Given the description of an element on the screen output the (x, y) to click on. 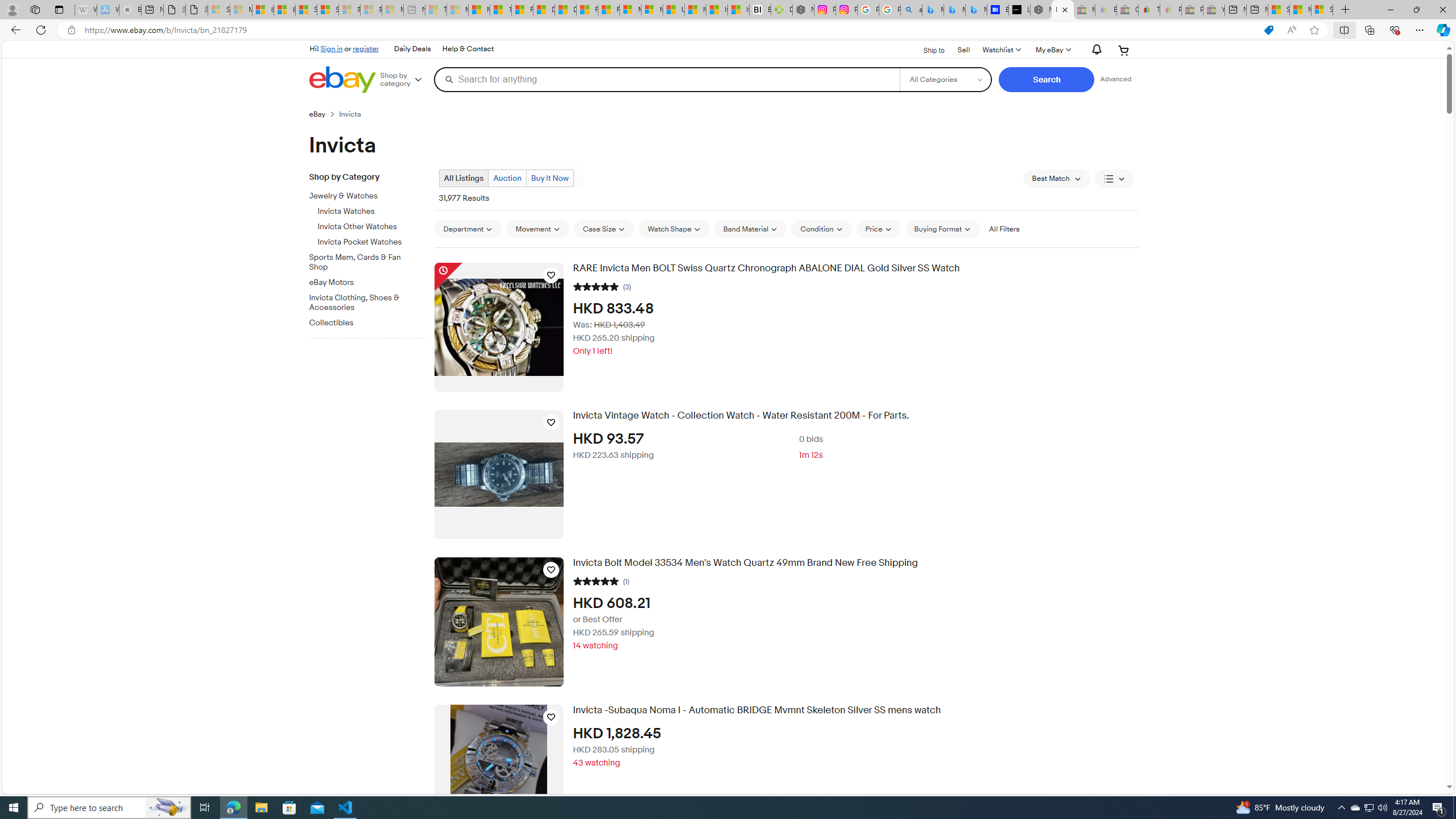
All Listings (463, 177)
Invicta (354, 113)
Daily Deals (412, 49)
Buying Format (941, 229)
WatchlistExpand Watch List (1000, 49)
Microsoft Services Agreement - Sleeping (241, 9)
Case Size (603, 229)
